Given the description of an element on the screen output the (x, y) to click on. 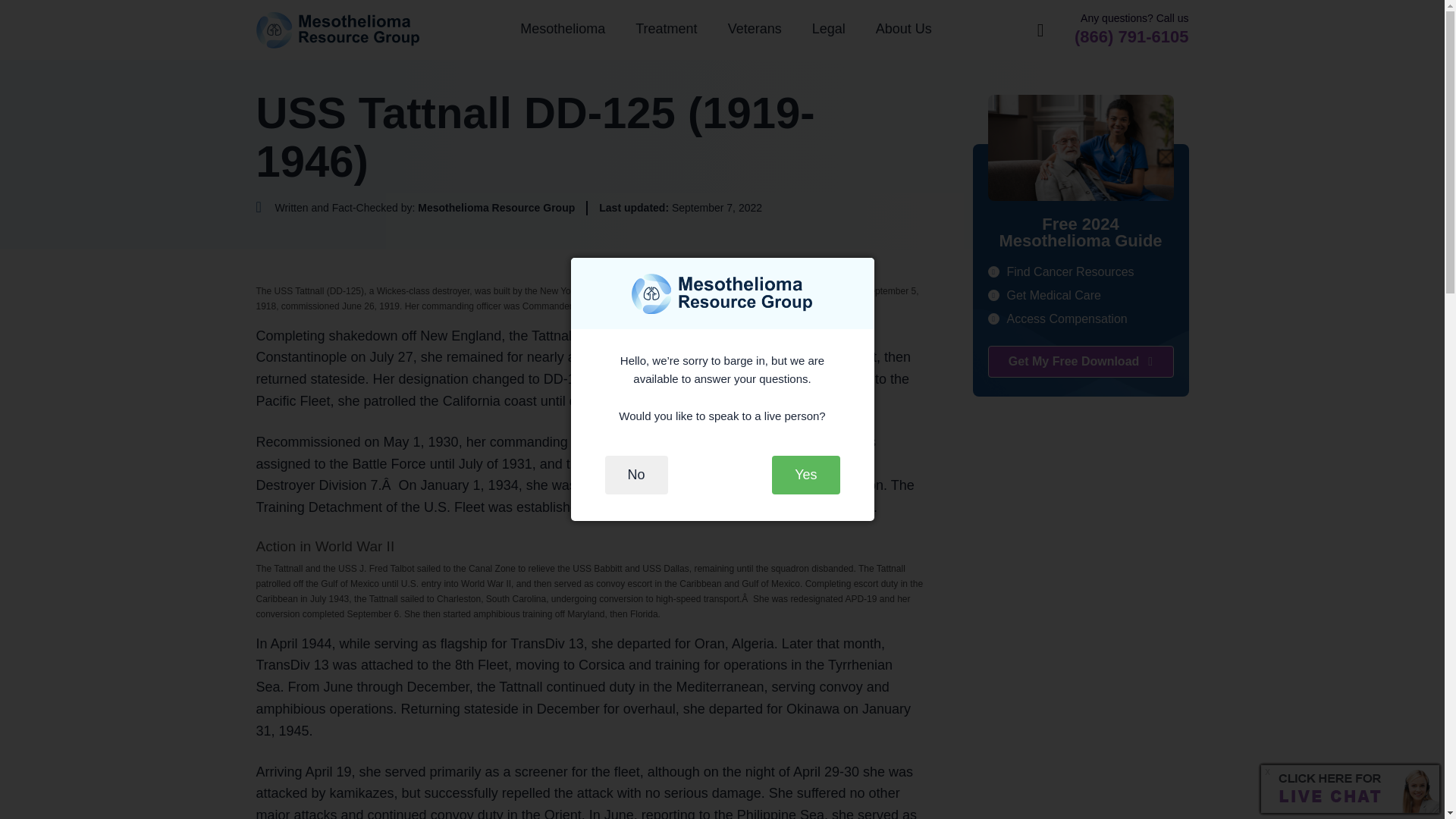
Treatment (665, 28)
Veterans (754, 28)
About Us (903, 28)
Mesothelioma (562, 28)
Veterans (754, 28)
Mesothelioma Resource Group (339, 29)
Click to view Mesothelioma Resource Group (415, 208)
Treatment (665, 28)
Mesothelioma Resource Group (339, 29)
Legal (828, 28)
Mesothelioma (562, 28)
